Given the description of an element on the screen output the (x, y) to click on. 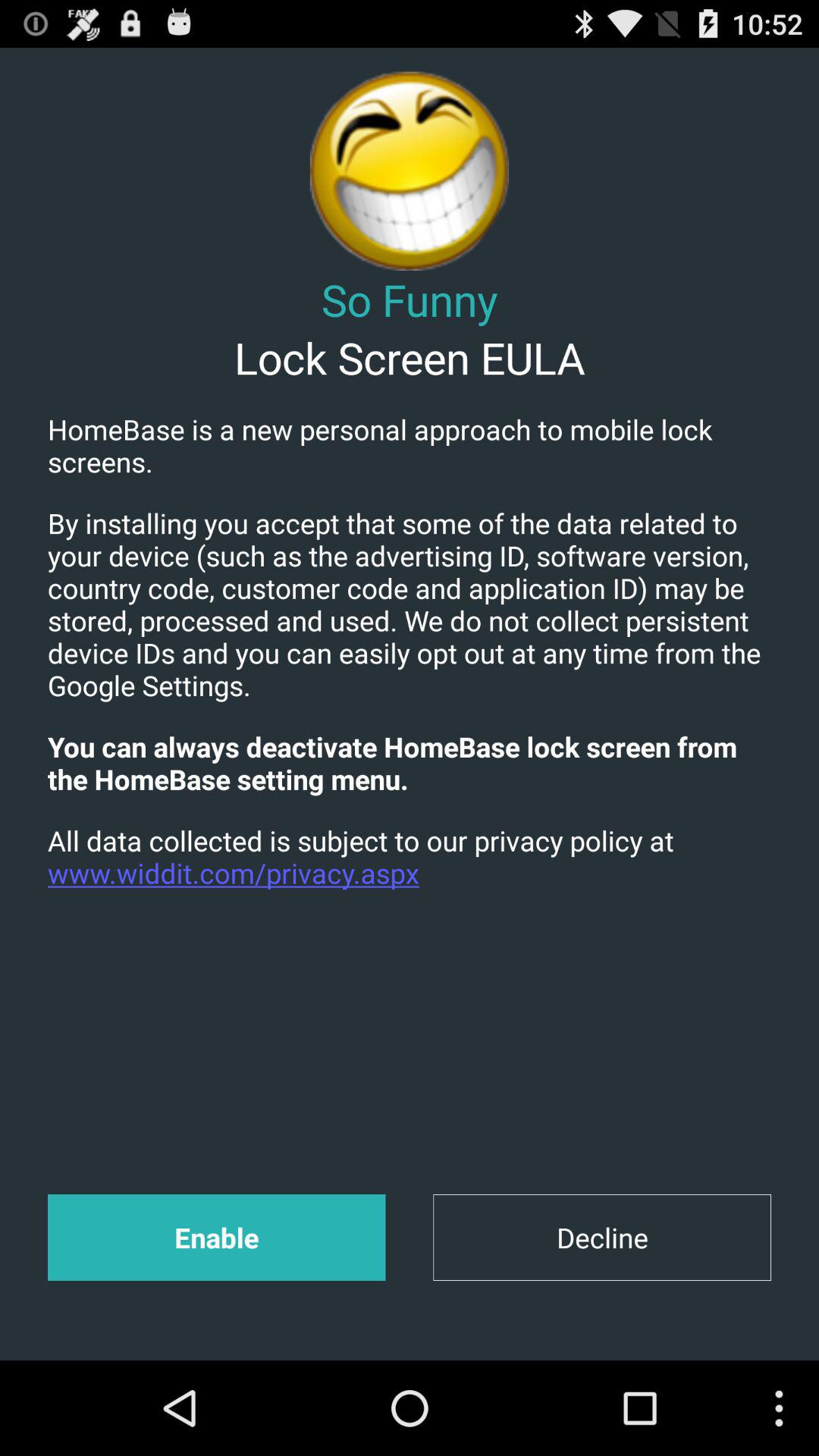
click app below the by installing you item (409, 762)
